Given the description of an element on the screen output the (x, y) to click on. 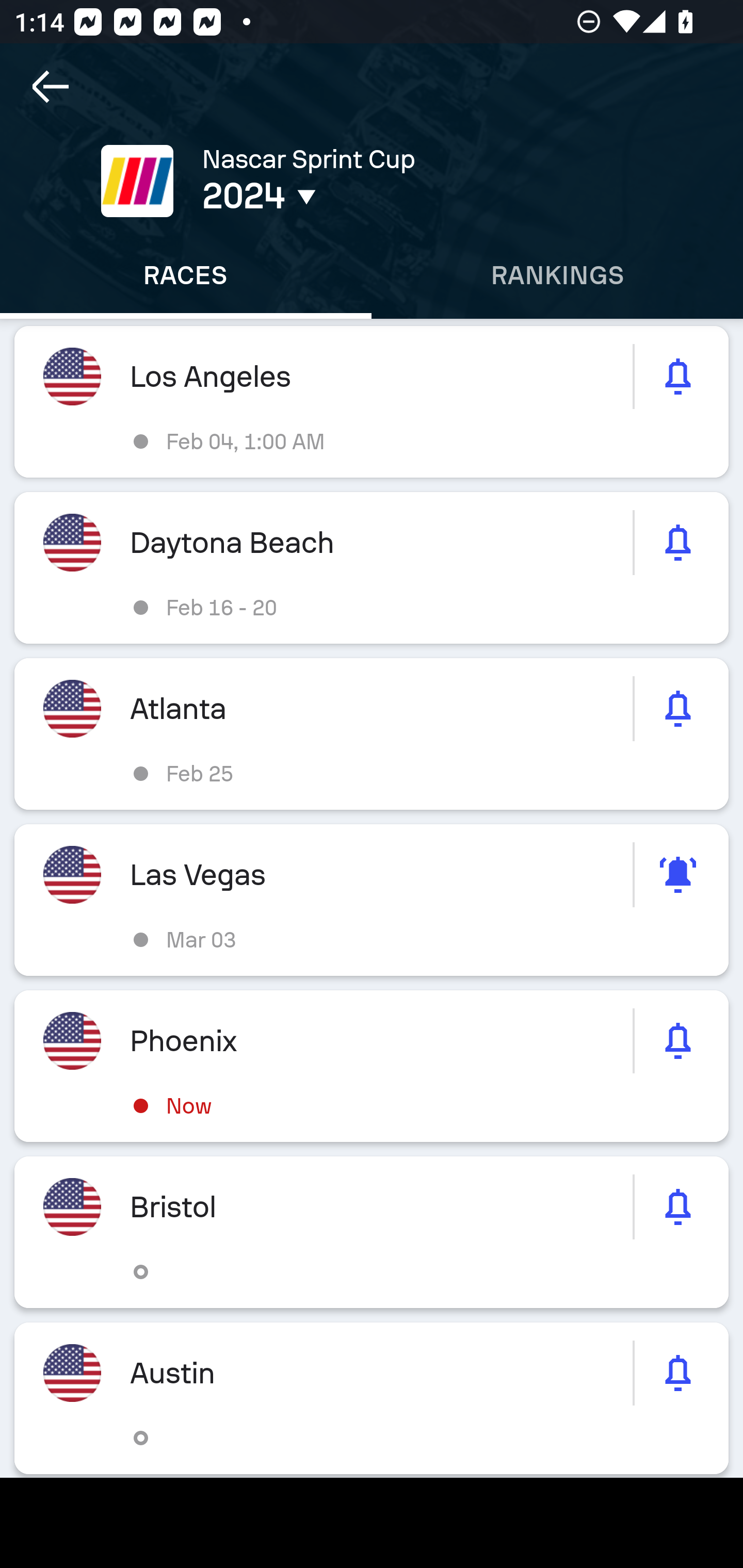
Navigate up (50, 86)
2024 (350, 195)
Rankings RANKINGS (557, 275)
Los Angeles picture Feb 04, 1:00 AM (371, 402)
Daytona Beach picture Feb 16 - 20 (371, 568)
Atlanta picture Feb 25 (371, 733)
Las Vegas picture Mar 03 (371, 899)
Phoenix picture Now (371, 1065)
Bristol picture (371, 1232)
Austin picture (371, 1397)
